Given the description of an element on the screen output the (x, y) to click on. 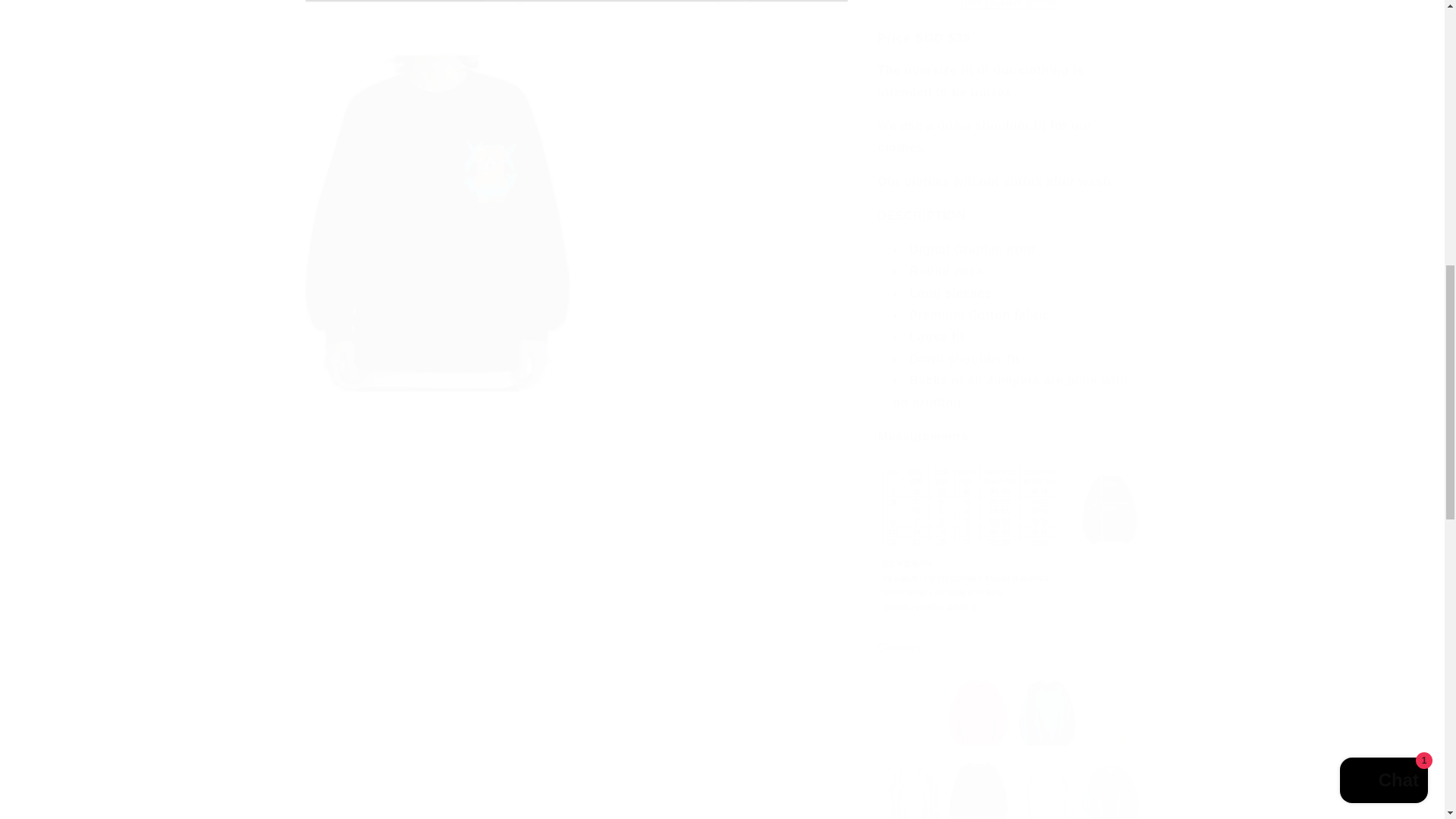
Open media 1 in modal (575, 11)
More payment options (1008, 5)
